Given the description of an element on the screen output the (x, y) to click on. 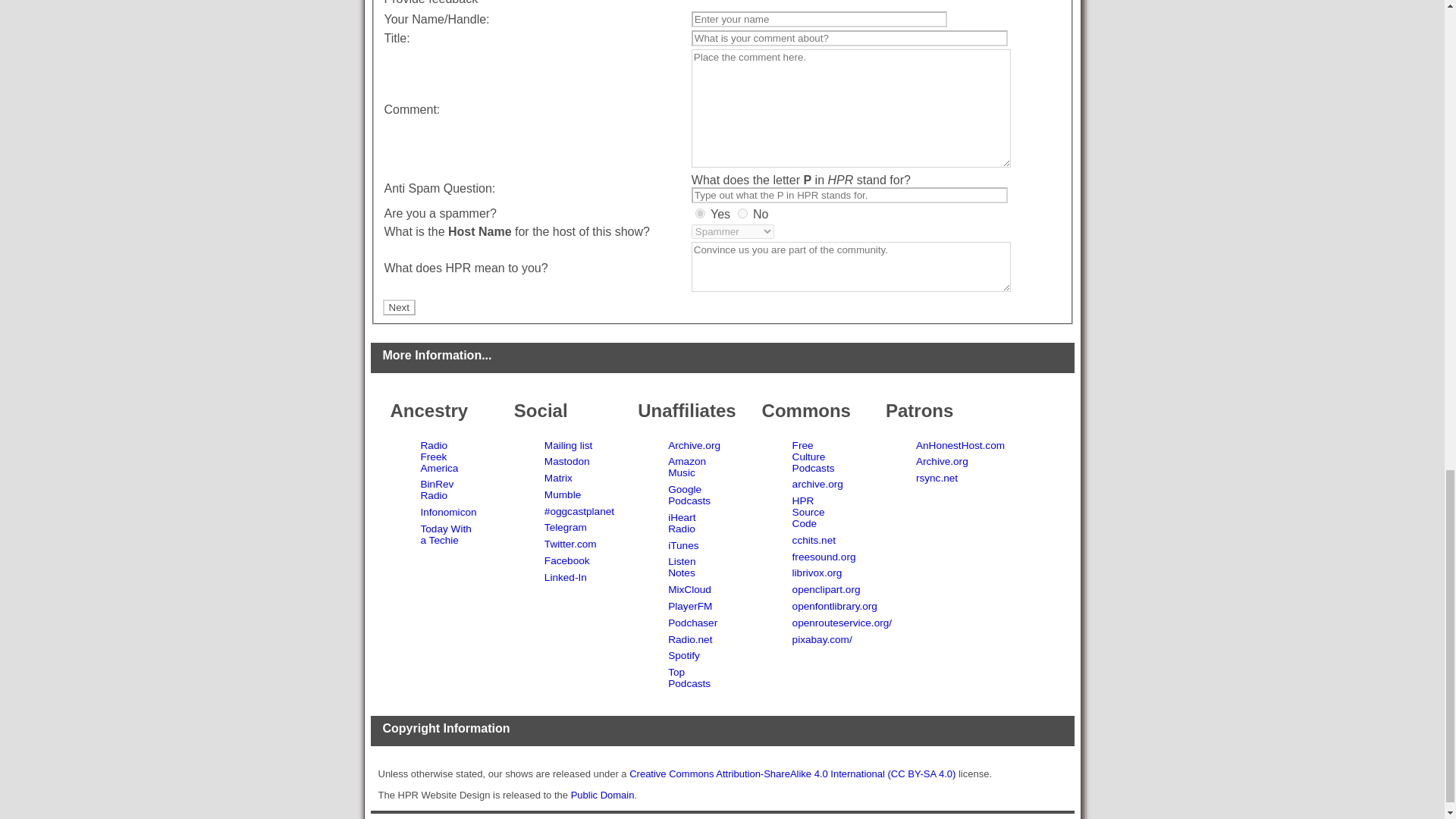
Yes (699, 213)
No (743, 213)
Next (397, 307)
